Given the description of an element on the screen output the (x, y) to click on. 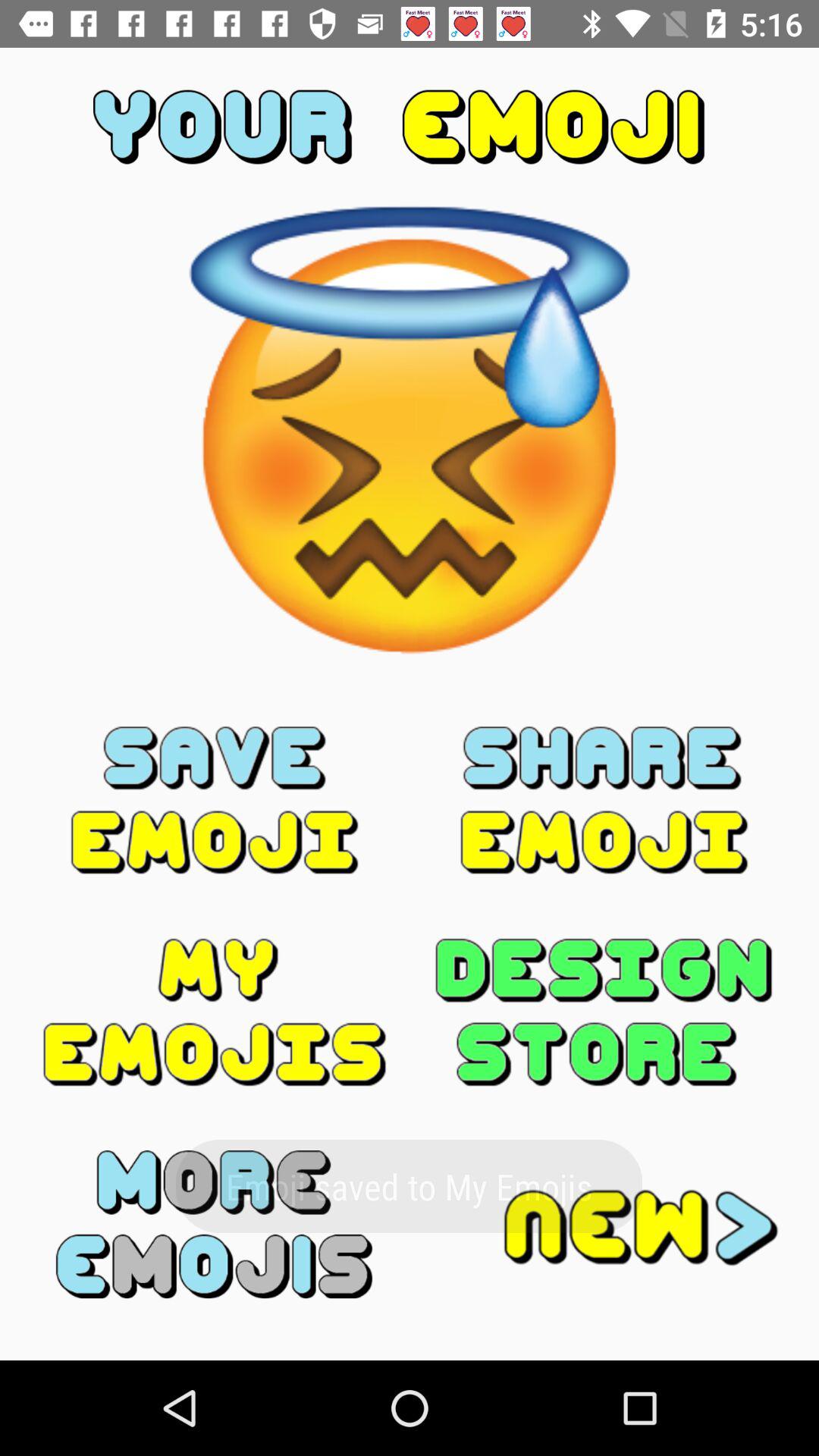
show saved emojis (214, 1012)
